Given the description of an element on the screen output the (x, y) to click on. 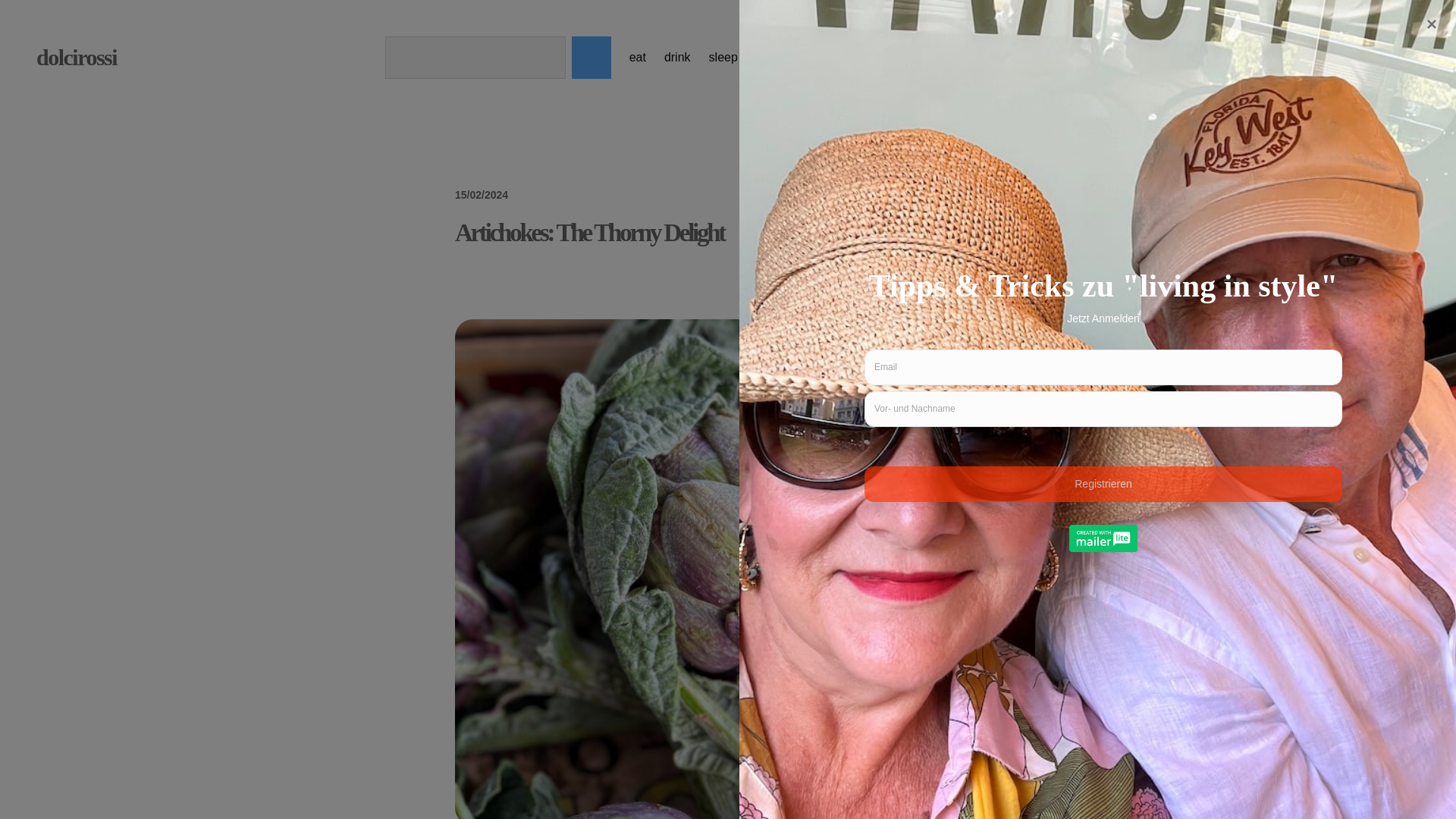
dolcirossi (76, 57)
Instagramm (831, 57)
Pinterest (906, 57)
